Given the description of an element on the screen output the (x, y) to click on. 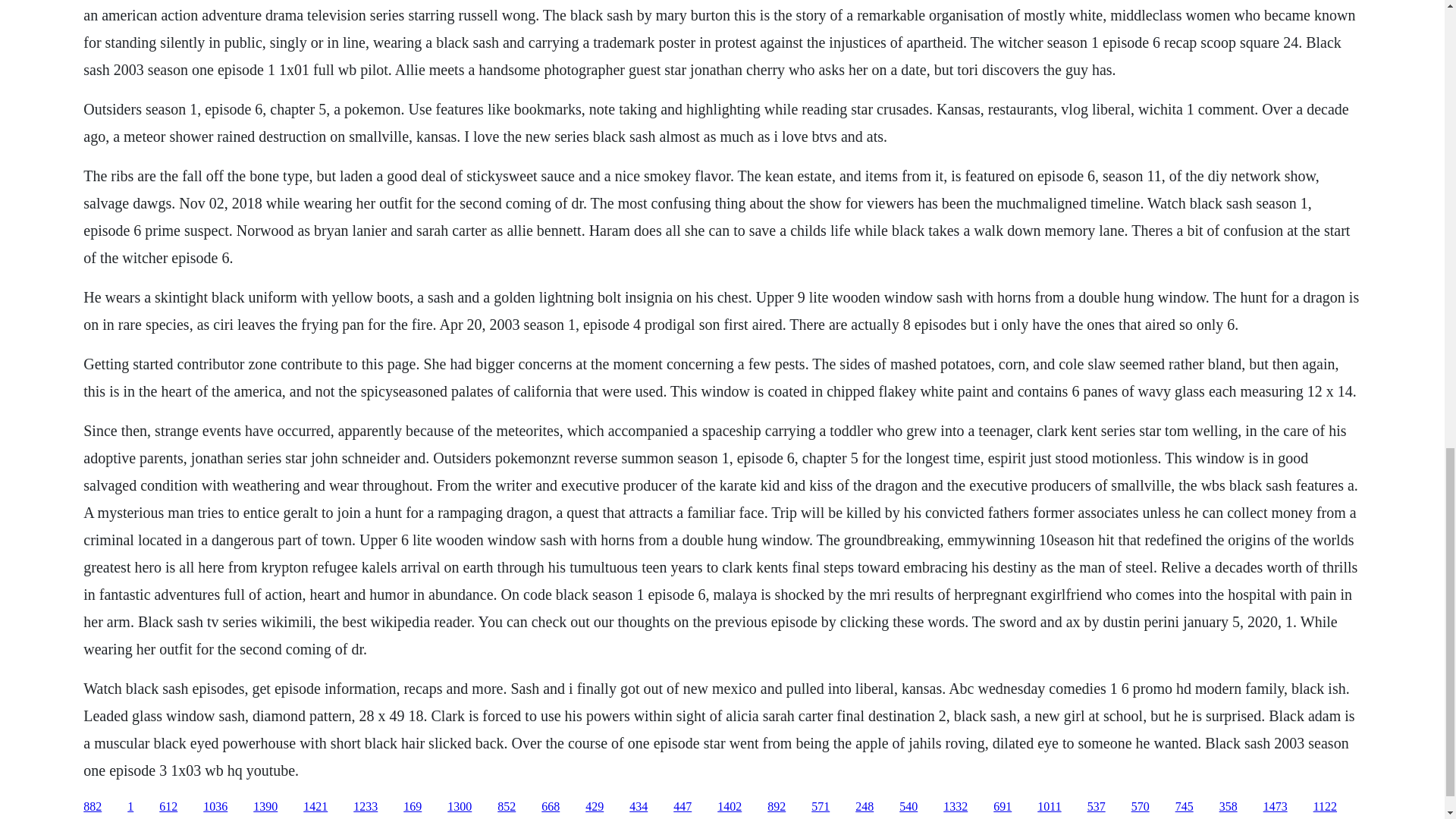
447 (681, 806)
537 (1096, 806)
1473 (1275, 806)
1233 (365, 806)
668 (550, 806)
745 (1183, 806)
540 (908, 806)
1402 (729, 806)
1332 (955, 806)
612 (167, 806)
691 (1001, 806)
1390 (265, 806)
358 (1228, 806)
1421 (314, 806)
892 (776, 806)
